Given the description of an element on the screen output the (x, y) to click on. 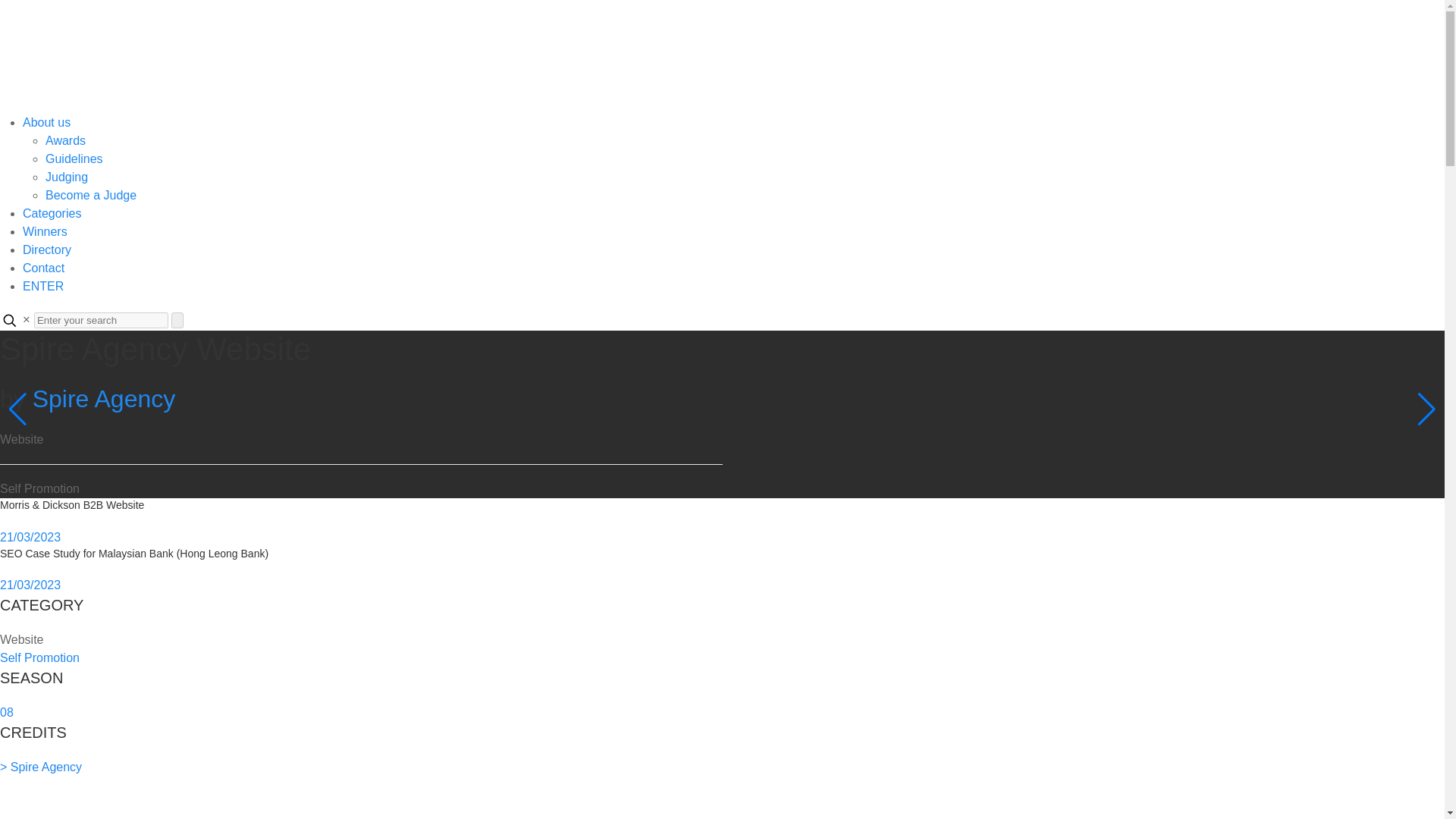
Directory (47, 249)
Winners (44, 231)
Spire Agency (104, 398)
Become a Judge (90, 195)
About us (46, 122)
ENTER (43, 286)
Judging (66, 176)
08 (6, 712)
enter-menu (43, 286)
Web Excellence Awards (455, 55)
